Given the description of an element on the screen output the (x, y) to click on. 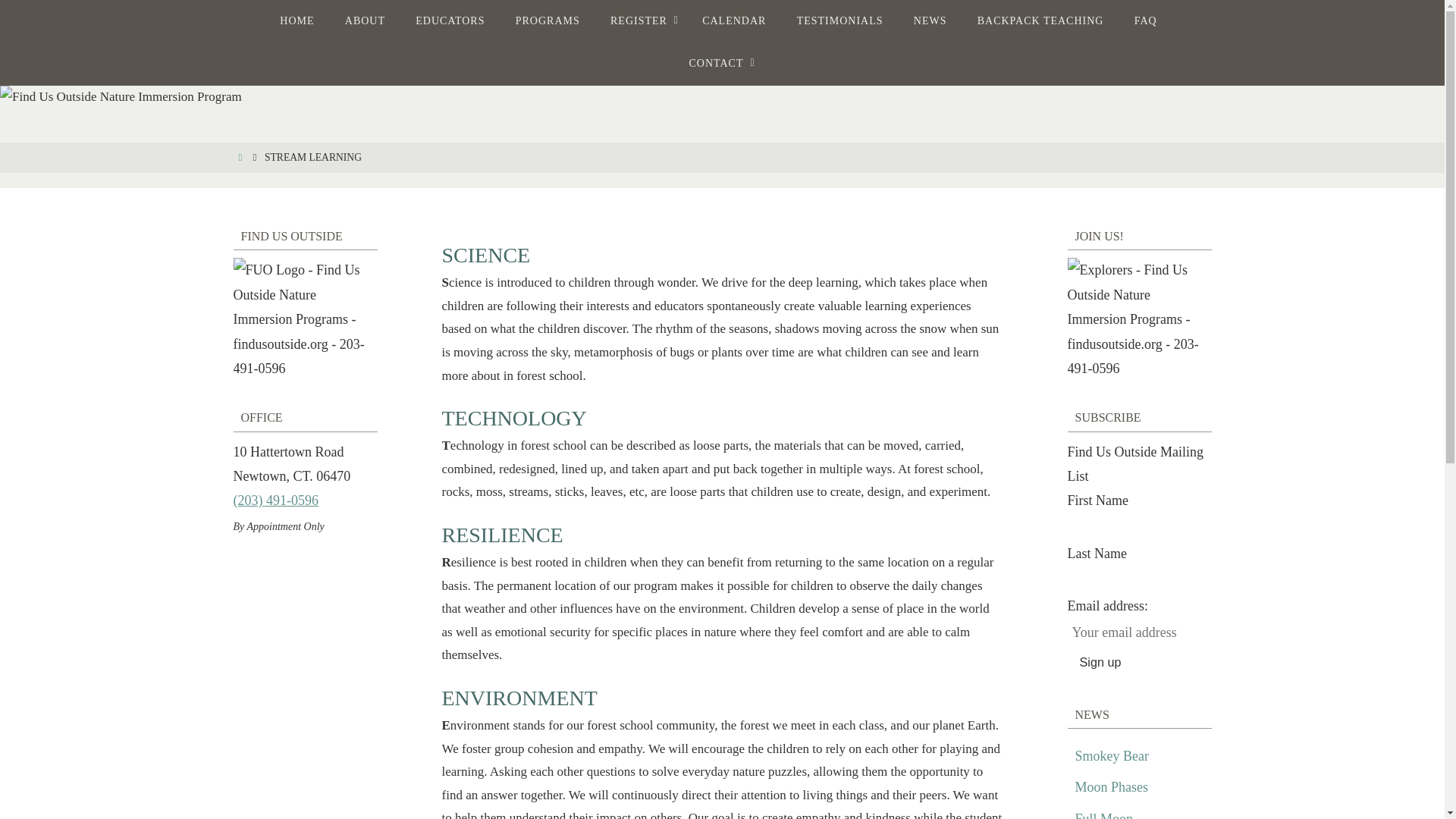
Smokey Bear (1111, 756)
CALENDAR (733, 21)
FAQ (1145, 21)
Full Moon (1104, 815)
CONTACT (718, 63)
Sign up (1100, 662)
REGISTER (640, 21)
NEWS (929, 21)
PROGRAMS (548, 21)
HOME (296, 21)
